Given the description of an element on the screen output the (x, y) to click on. 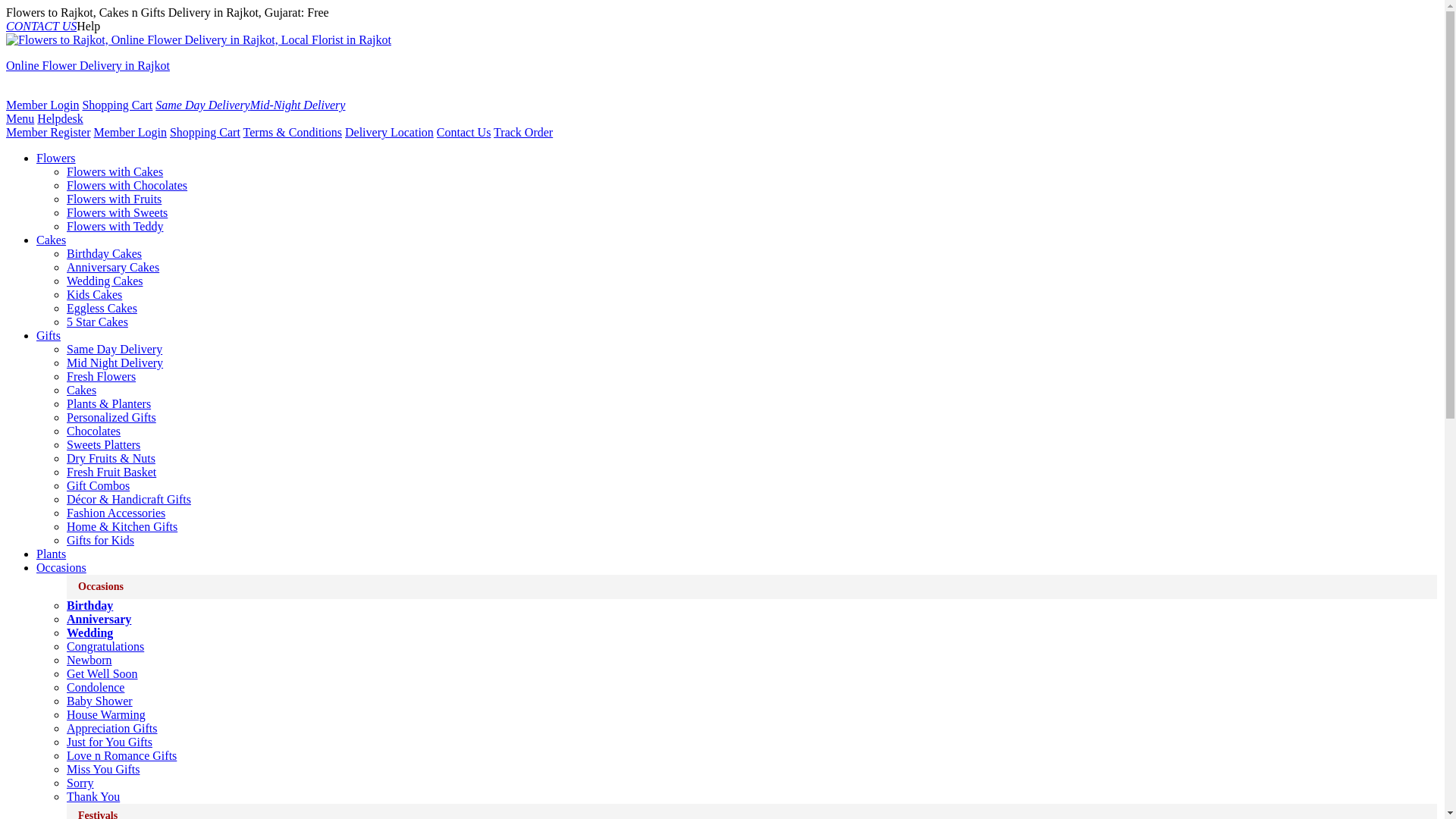
Mid-Night Delivery (298, 104)
Mid Night Delivery (114, 362)
Eggless Cakes (101, 308)
Midnight Delivery Cake, Flowers And Gifts (298, 104)
Track Order (523, 132)
Fresh Fruit Basket (110, 472)
Cakes (50, 239)
Flowers with Chocolates (126, 185)
Personalized Gifts (110, 417)
Order Status (523, 132)
Chocolates (93, 431)
Delivery Location (389, 132)
Flowers with Fruits (113, 198)
Flowers with Cakes (114, 171)
Same Day Delivery (113, 349)
